Given the description of an element on the screen output the (x, y) to click on. 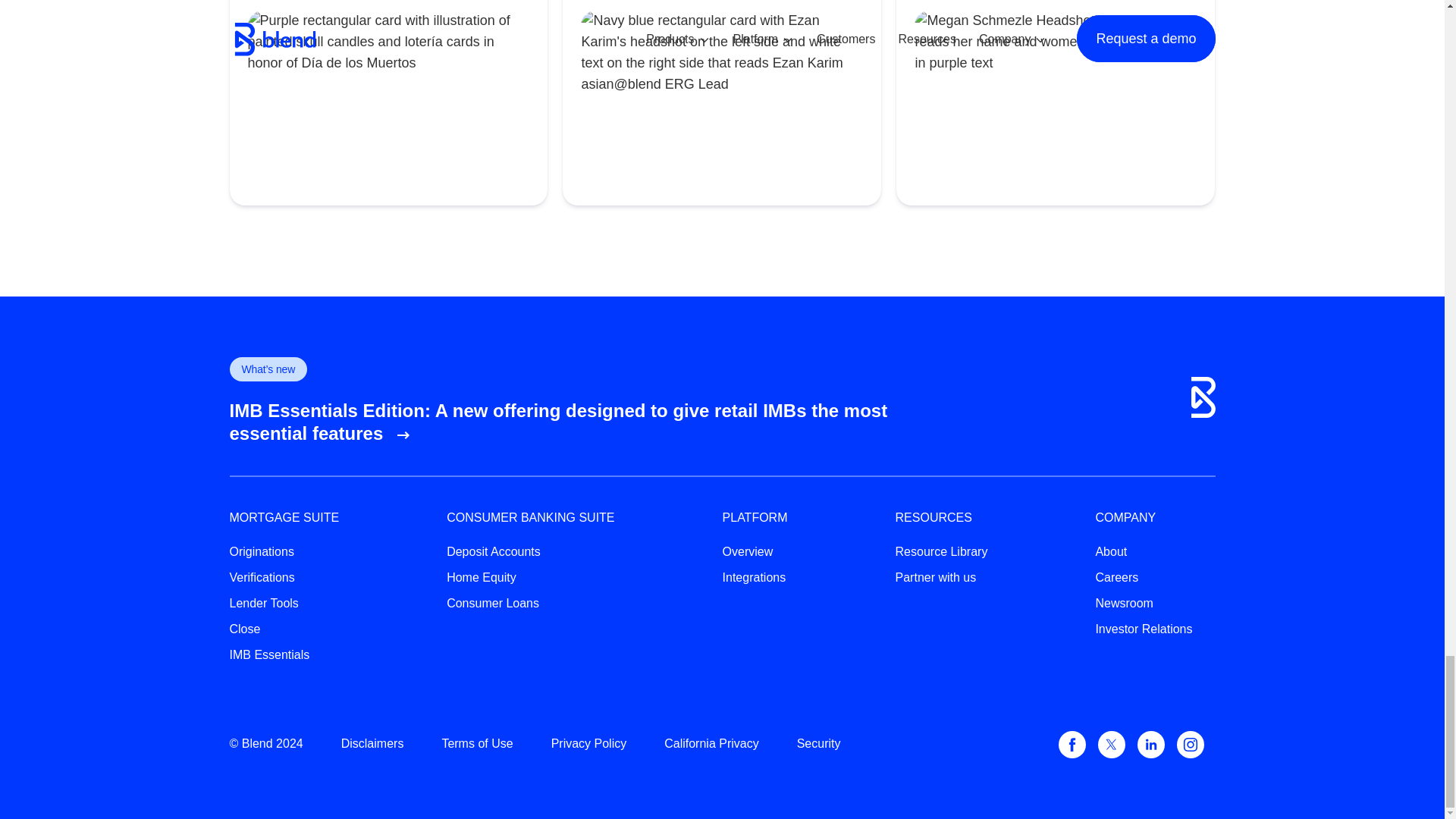
Facebook (1072, 744)
Twitter (1111, 744)
LinkedIn (1150, 744)
Instagram (1190, 744)
